Given the description of an element on the screen output the (x, y) to click on. 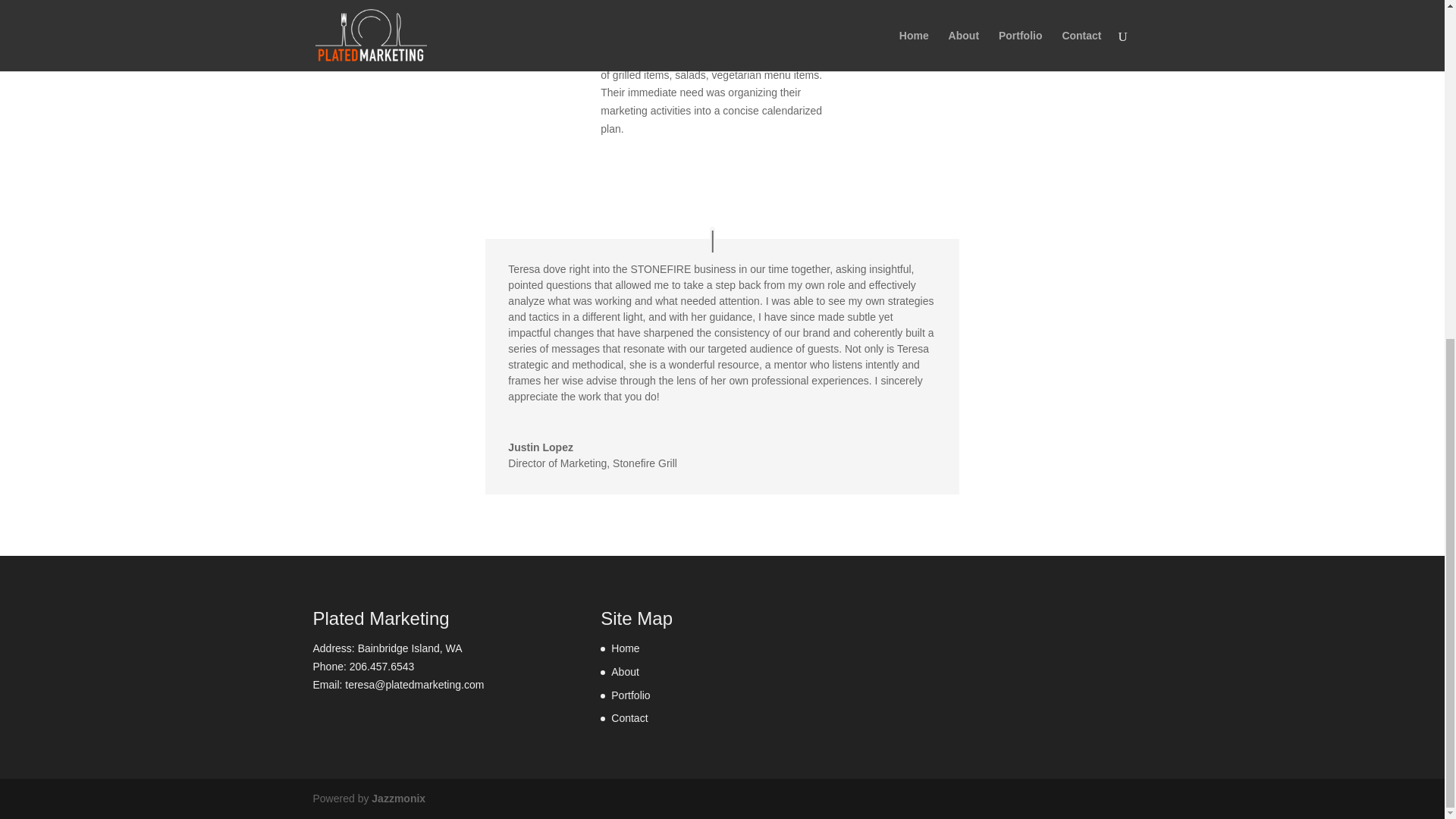
Home (625, 648)
Contact (629, 717)
Portfolio (630, 695)
About (625, 671)
Jazzmonix (398, 797)
